Given the description of an element on the screen output the (x, y) to click on. 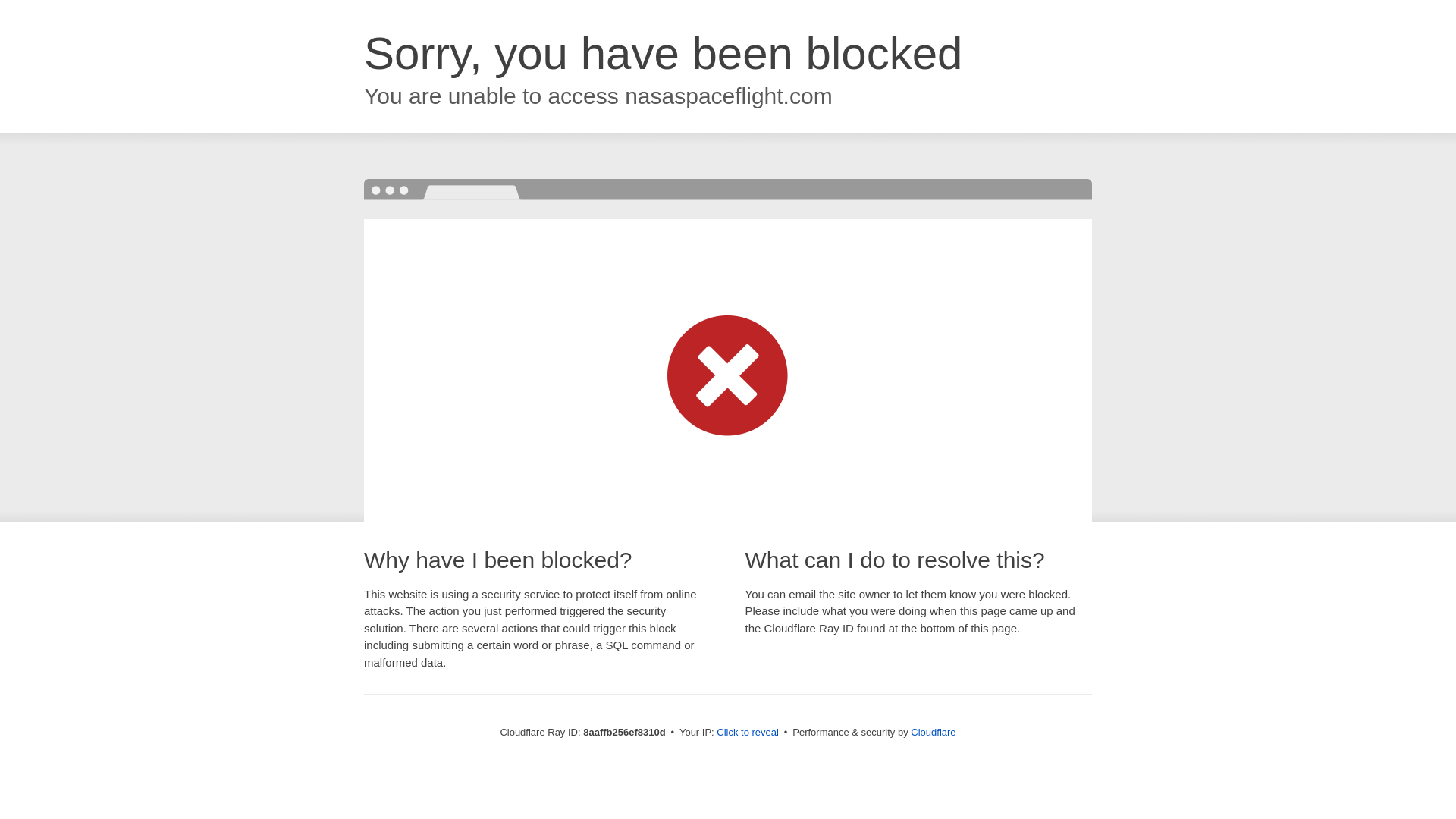
Click to reveal (747, 732)
Cloudflare (933, 731)
